Given the description of an element on the screen output the (x, y) to click on. 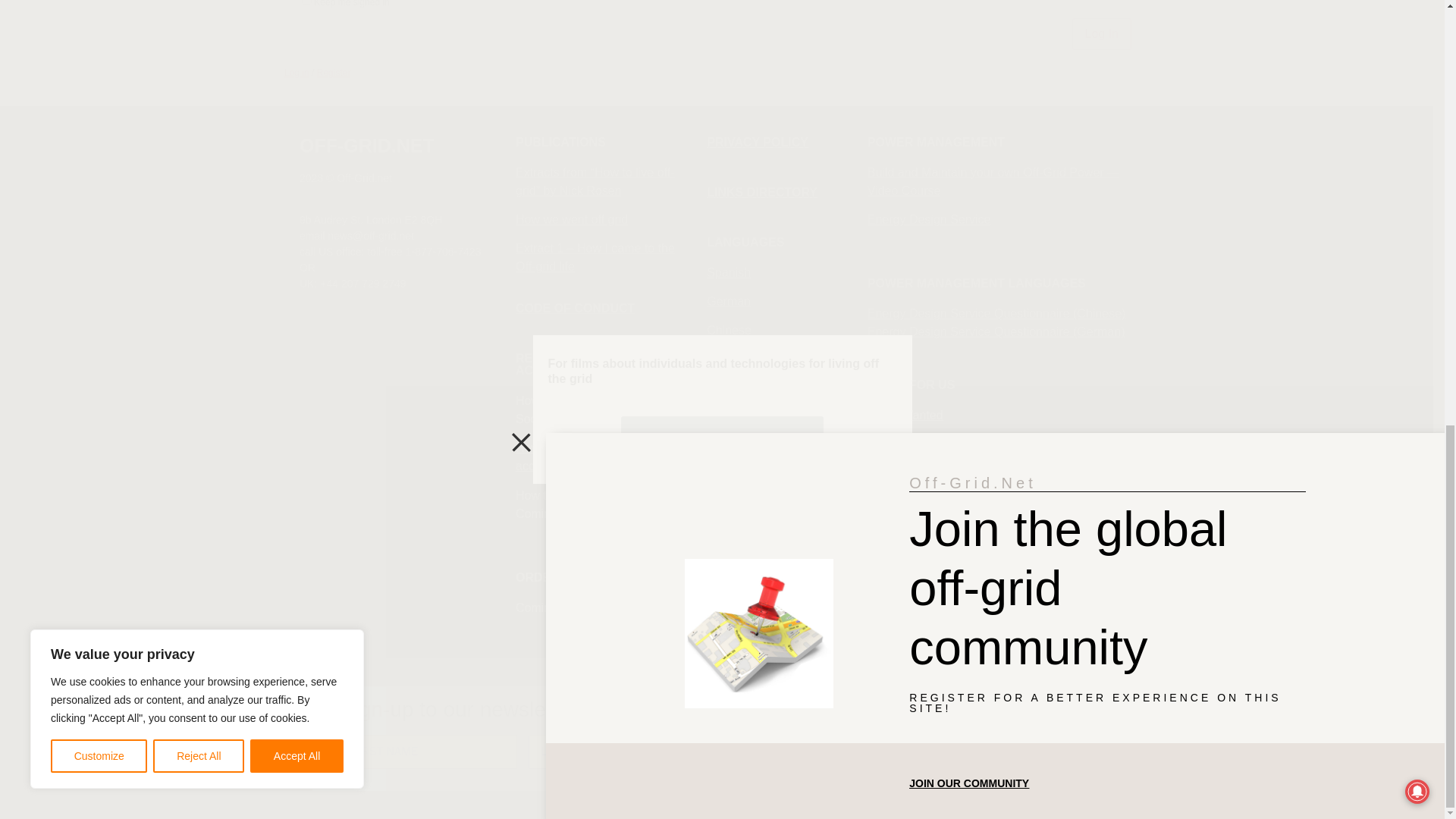
forever (306, 2)
